Given the description of an element on the screen output the (x, y) to click on. 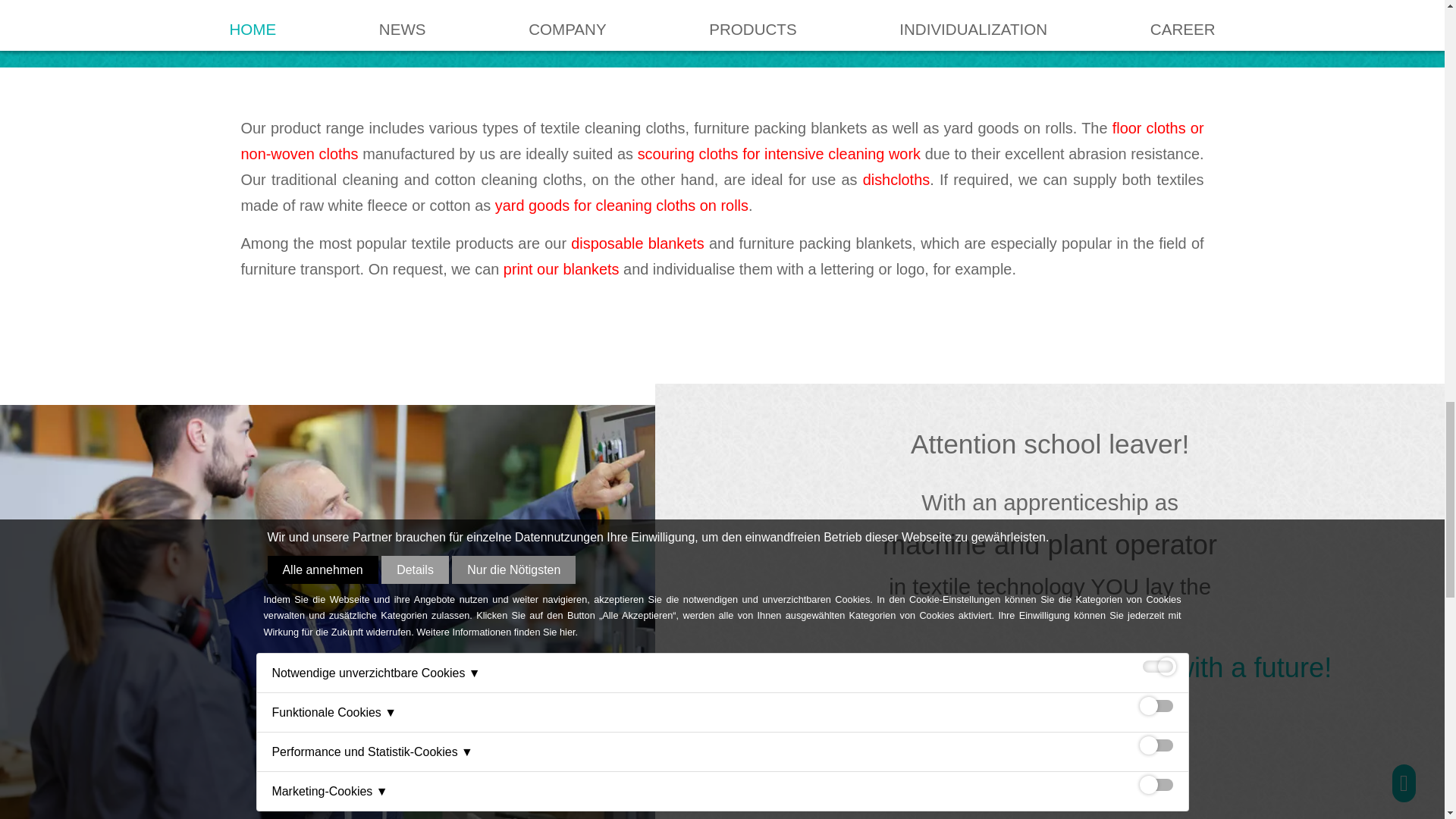
scouring cloths for intensive cleaning work (778, 153)
print our blankets (561, 269)
floor cloths or non-woven cloths (722, 140)
dishcloths (896, 179)
disposable blankets (637, 243)
yard goods for cleaning cloths on rolls (621, 205)
